Given the description of an element on the screen output the (x, y) to click on. 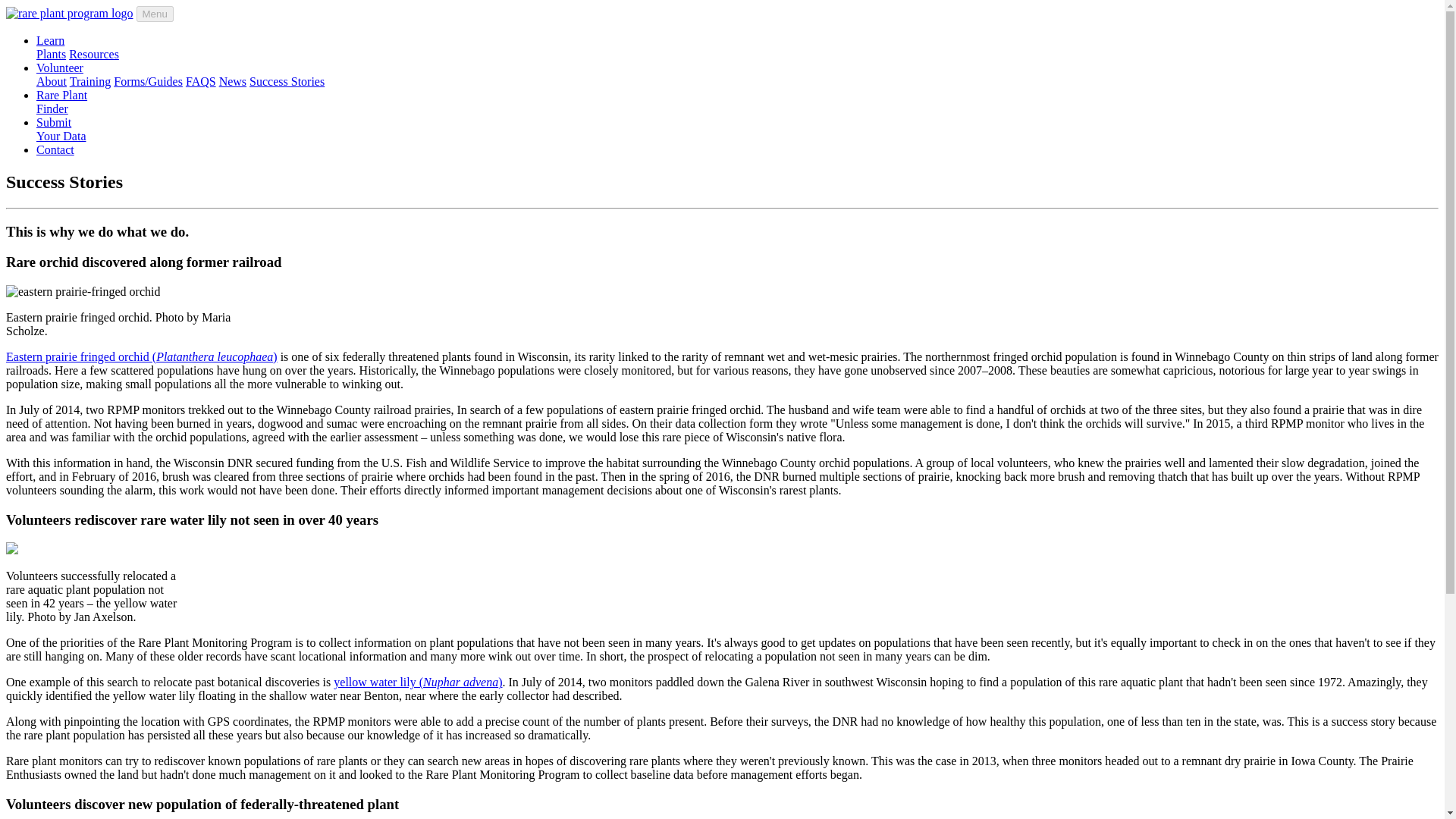
Resources (93, 53)
Training (90, 81)
Menu (154, 13)
FAQS (200, 81)
Contact (55, 149)
Success Stories (286, 81)
Plants (50, 53)
Volunteer (61, 101)
Learn (60, 129)
News (59, 67)
About (50, 40)
